Given the description of an element on the screen output the (x, y) to click on. 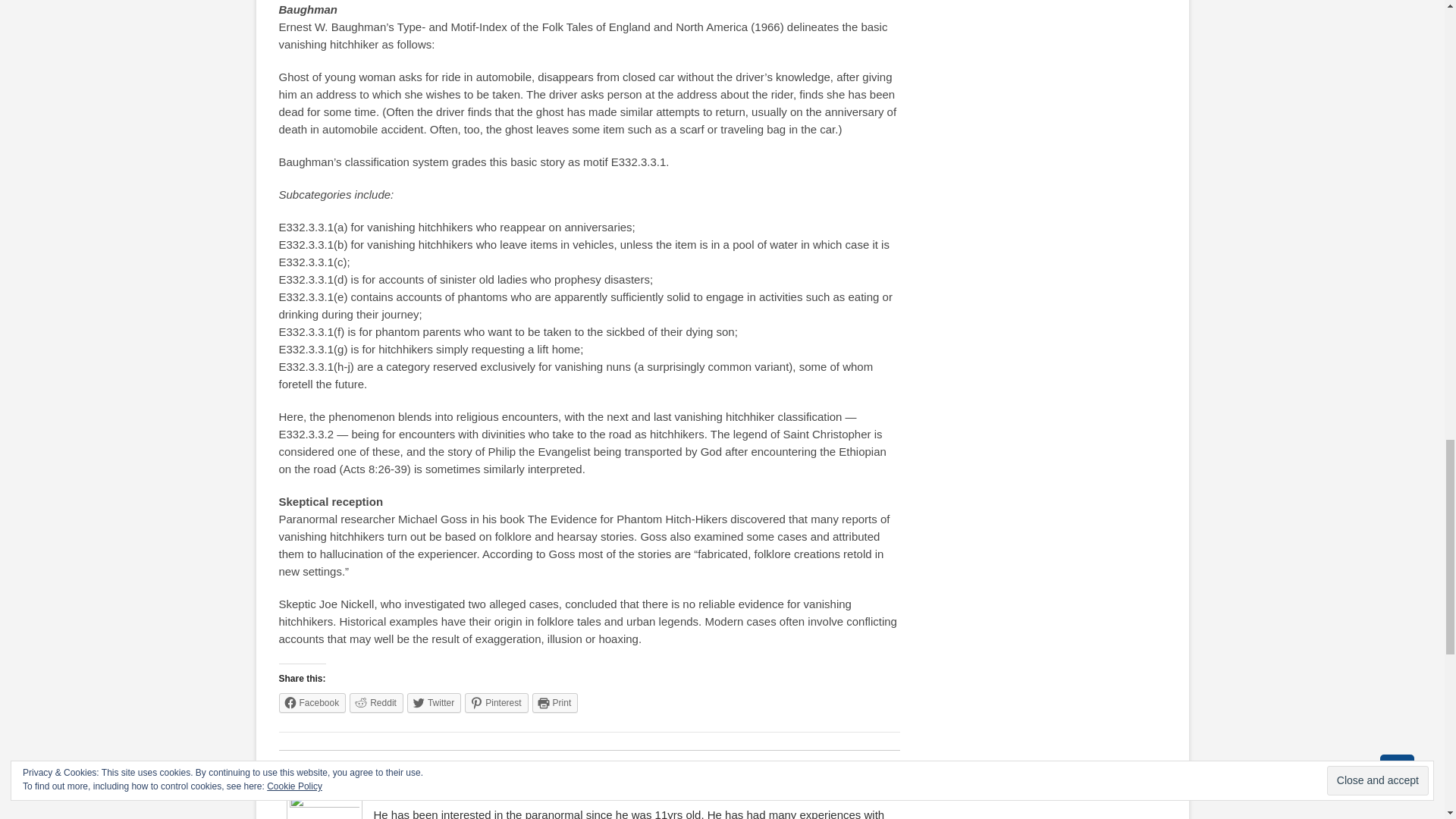
Click to share on Facebook (312, 702)
All posts by Chronos (323, 770)
Click to print (555, 702)
Click to share on Pinterest (495, 702)
Click to share on Reddit (376, 702)
Click to share on Twitter (434, 702)
